Given the description of an element on the screen output the (x, y) to click on. 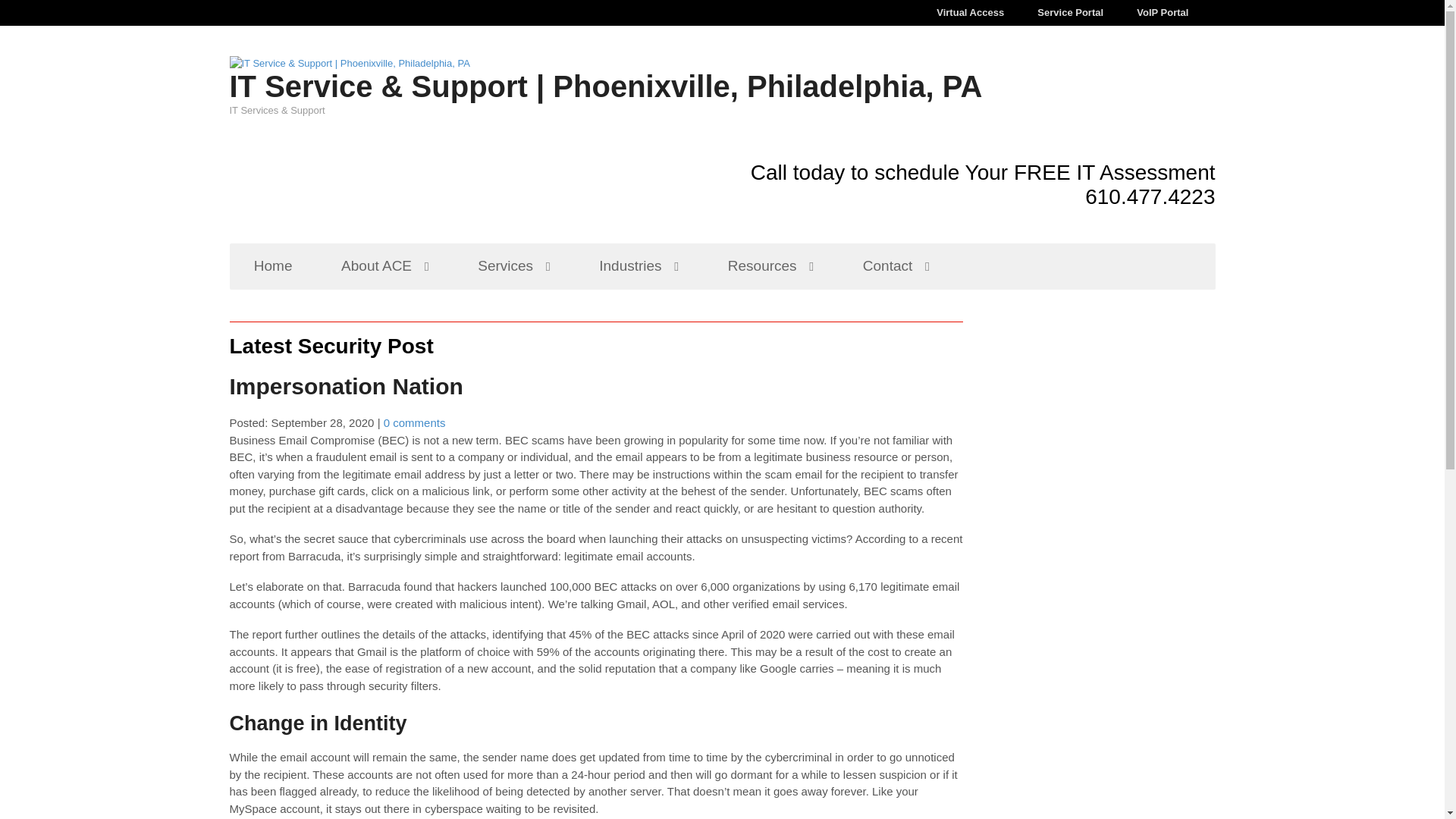
Industries (639, 266)
Services (513, 266)
Contact (895, 266)
Resources (770, 266)
Virtual Access (970, 12)
VoIP Portal (1162, 12)
Home (271, 266)
610.477.4223 (1149, 196)
Service Portal (1069, 12)
About ACE (384, 266)
